Given the description of an element on the screen output the (x, y) to click on. 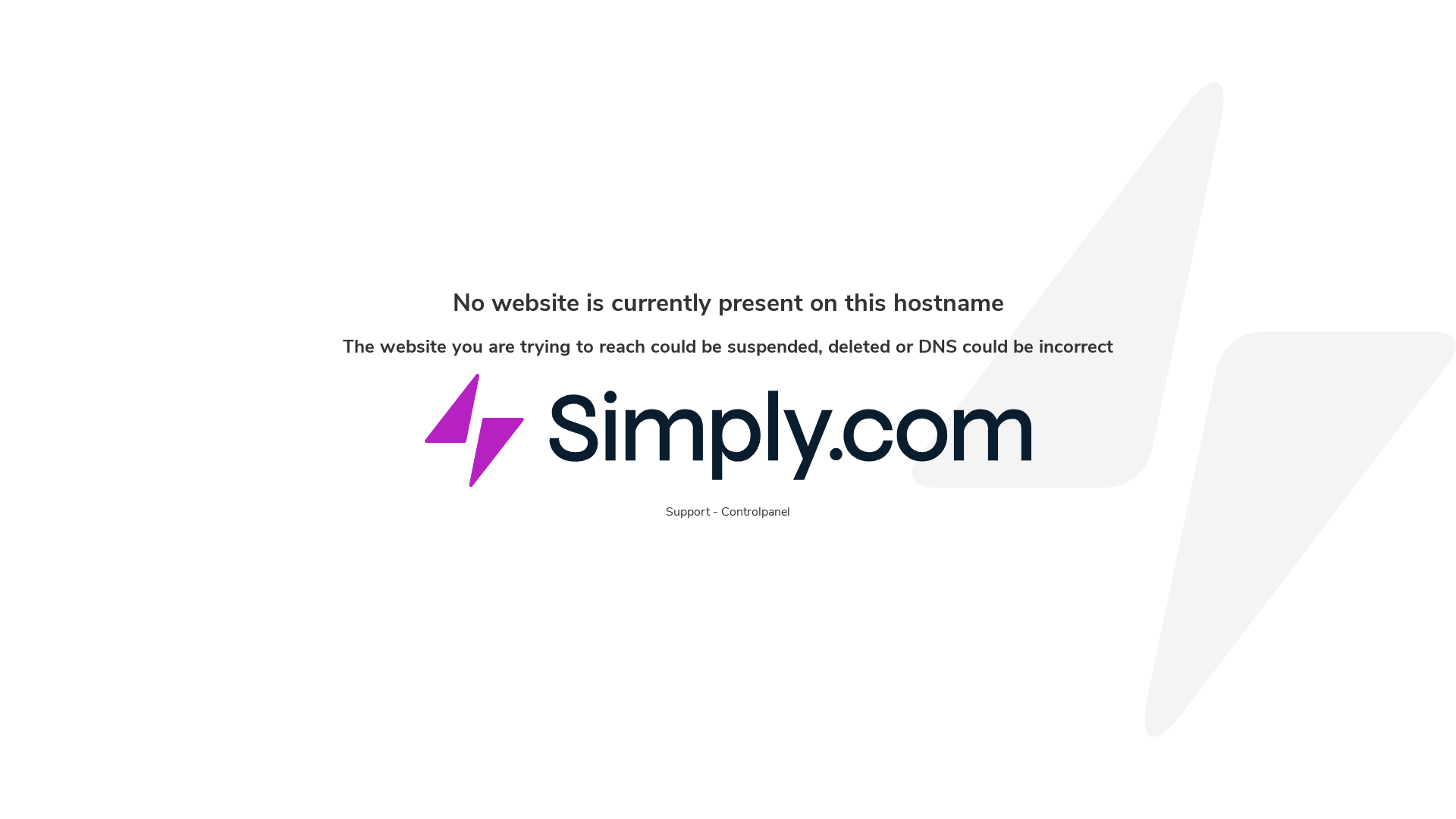
Controlpanel Element type: text (755, 511)
Support Element type: text (687, 511)
